Given the description of an element on the screen output the (x, y) to click on. 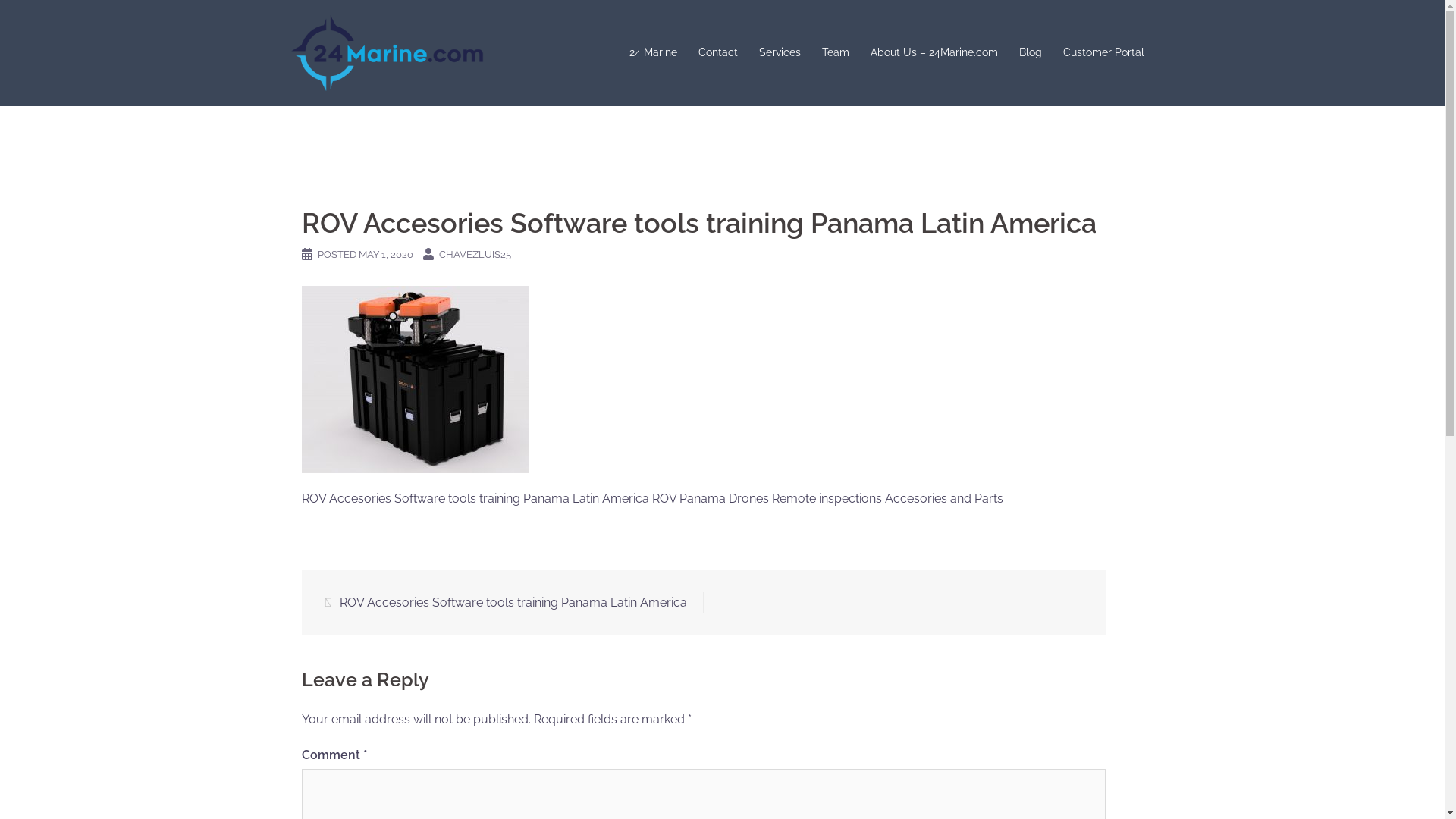
MAY 1, 2020 Element type: text (384, 254)
Blog Element type: text (1030, 52)
Customer Portal Element type: text (1103, 52)
24 Marine Element type: text (653, 52)
24Marine.com Element type: hover (386, 51)
Team Element type: text (835, 52)
Contact Element type: text (717, 52)
ROV Accesories Software tools training Panama Latin America Element type: text (513, 602)
CHAVEZLUIS25 Element type: text (474, 254)
Services Element type: text (779, 52)
